Given the description of an element on the screen output the (x, y) to click on. 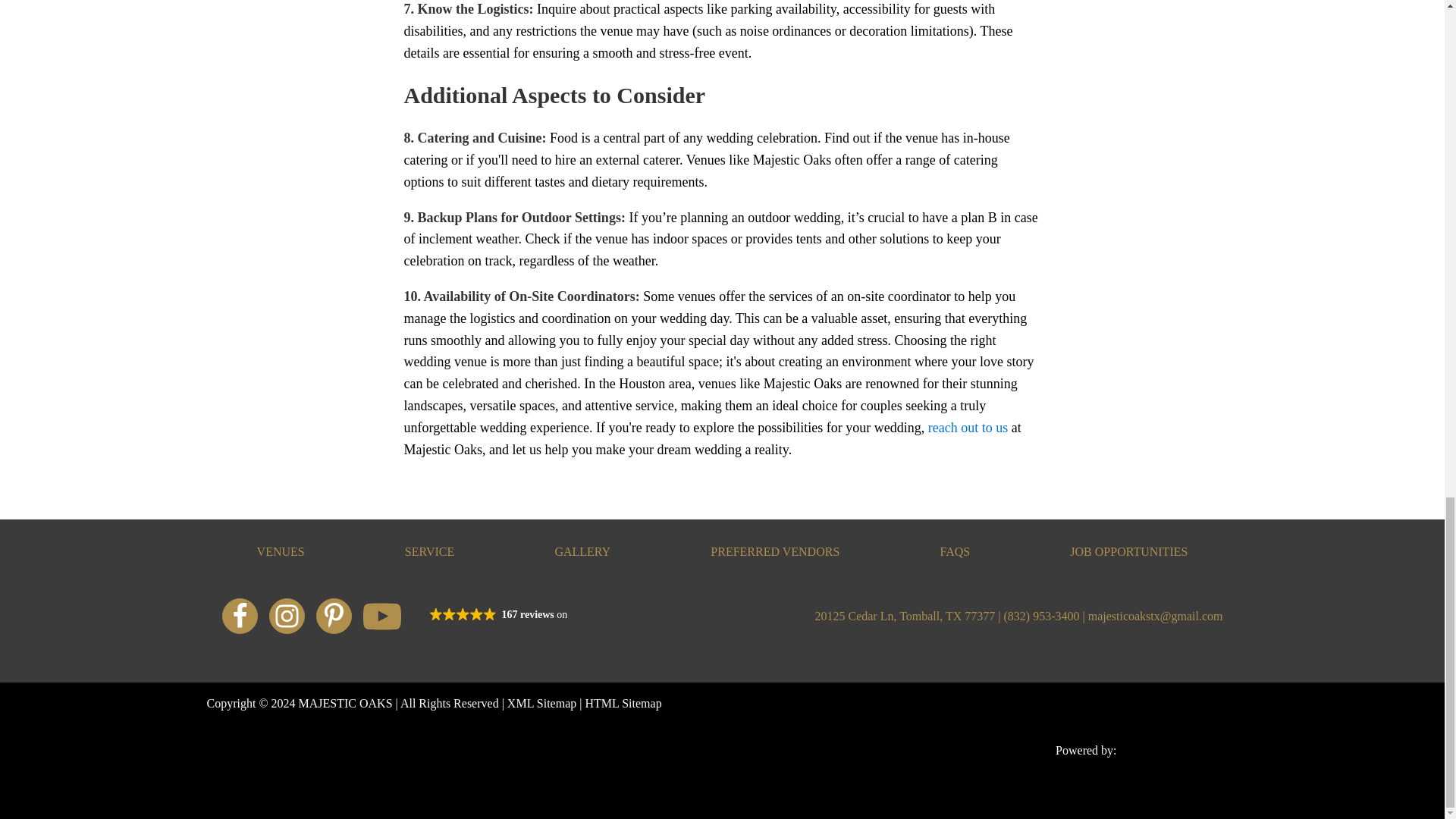
HTML Sitemap (623, 703)
FAQS (954, 551)
PREFERRED VENDORS (775, 551)
VENUES (280, 551)
SERVICE (429, 551)
GALLERY (582, 551)
reach out to us (967, 427)
JOB OPPORTUNITIES (1129, 551)
XML Sitemap (541, 703)
167 reviews on (523, 615)
